Given the description of an element on the screen output the (x, y) to click on. 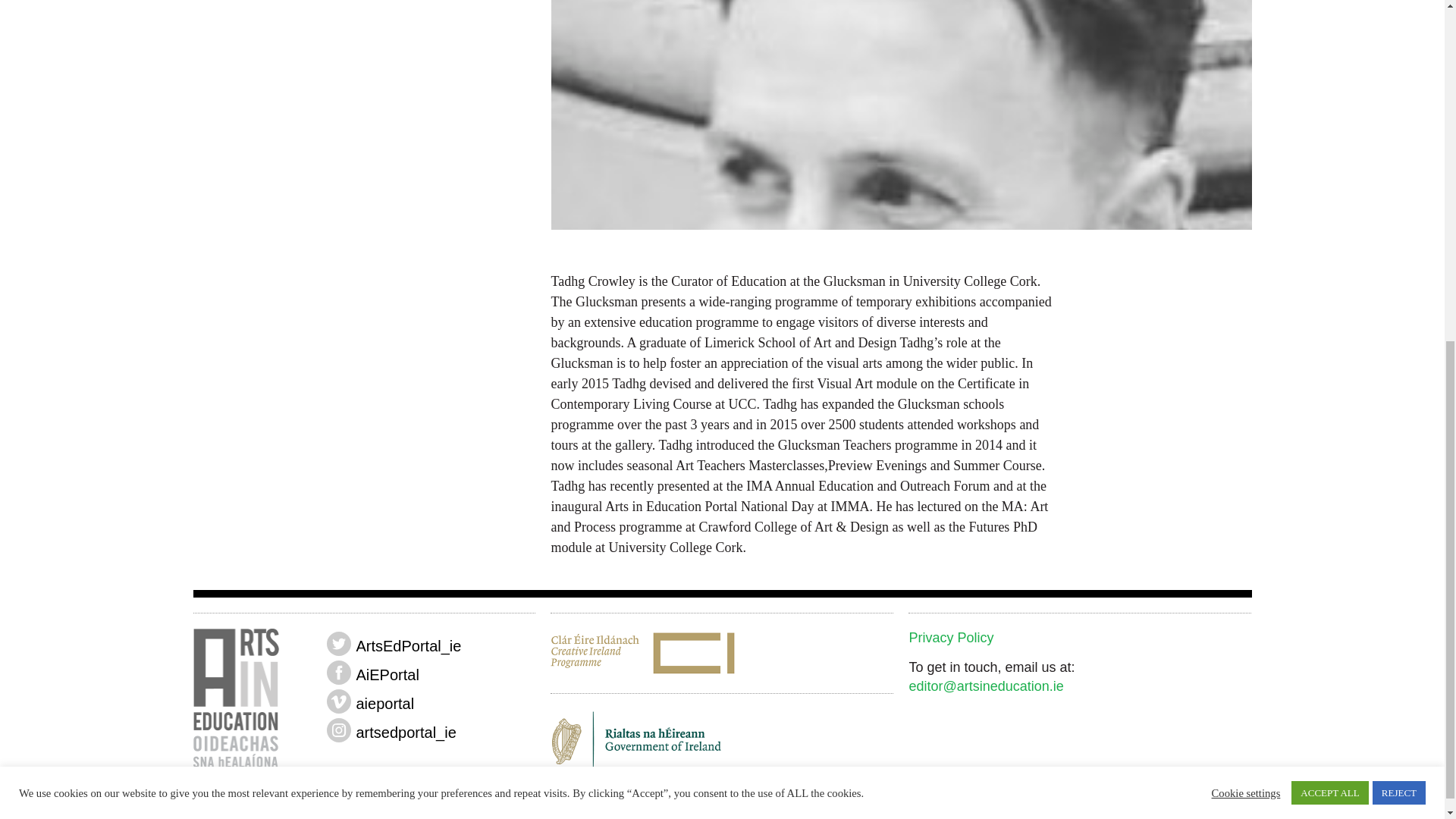
Privacy Policy (950, 637)
AiEPortal (338, 672)
Government of Ireland (721, 745)
Creative Ireland Programme (721, 653)
aieportal (338, 701)
ACCEPT ALL (1329, 201)
REJECT (1399, 201)
Cookie settings (1246, 201)
Design by New Graphic (248, 805)
